Given the description of an element on the screen output the (x, y) to click on. 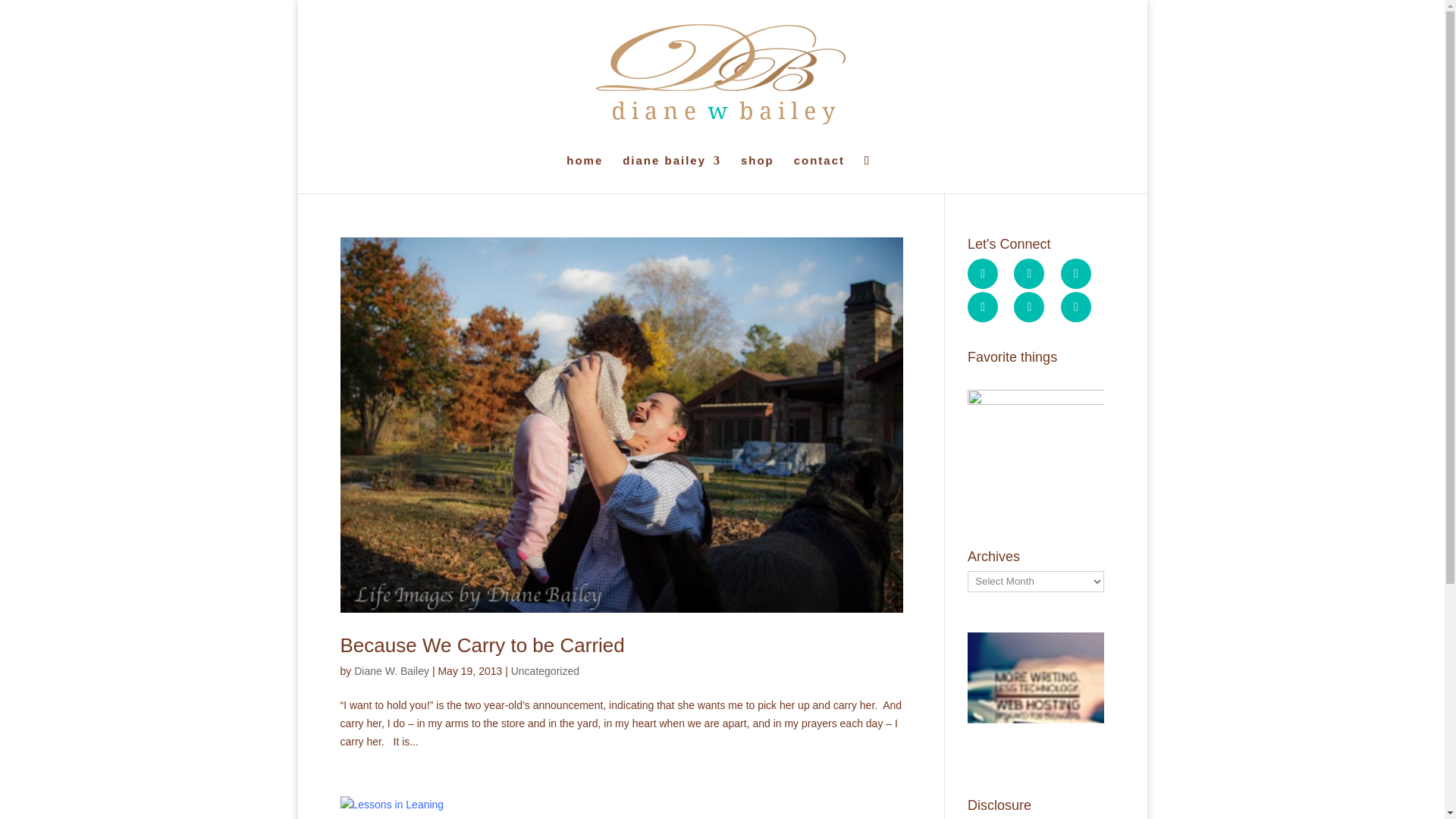
Uncategorized (545, 671)
contact (818, 174)
home (584, 174)
Posts by Diane W. Bailey (391, 671)
Diane W. Bailey (391, 671)
diane bailey (671, 174)
Because We Carry to be Carried (481, 644)
